Given the description of an element on the screen output the (x, y) to click on. 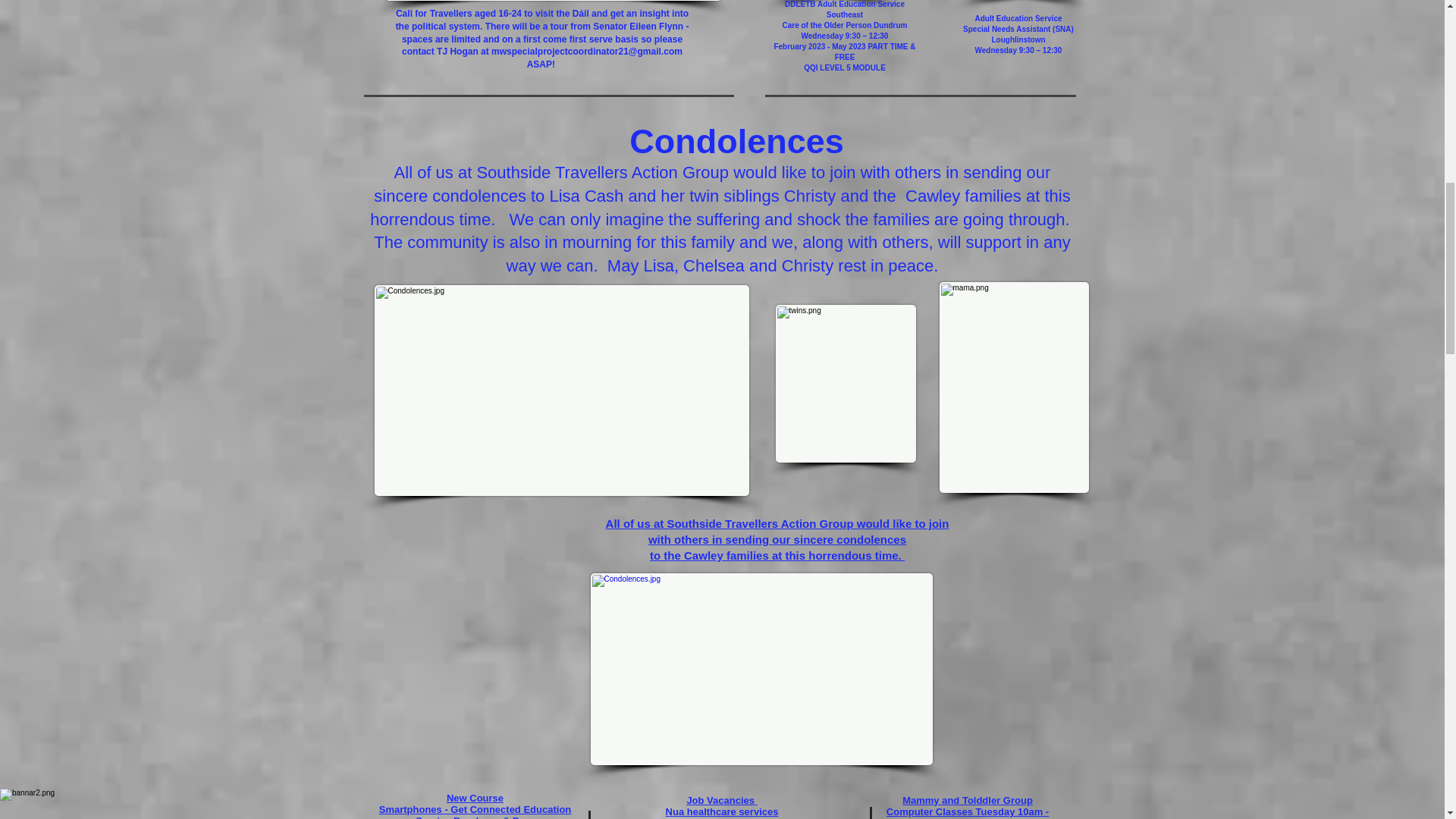
to the Cawley families at this horrendous time.  (776, 554)
Condolences (736, 141)
with others in sending our sincere condolences (776, 539)
